Given the description of an element on the screen output the (x, y) to click on. 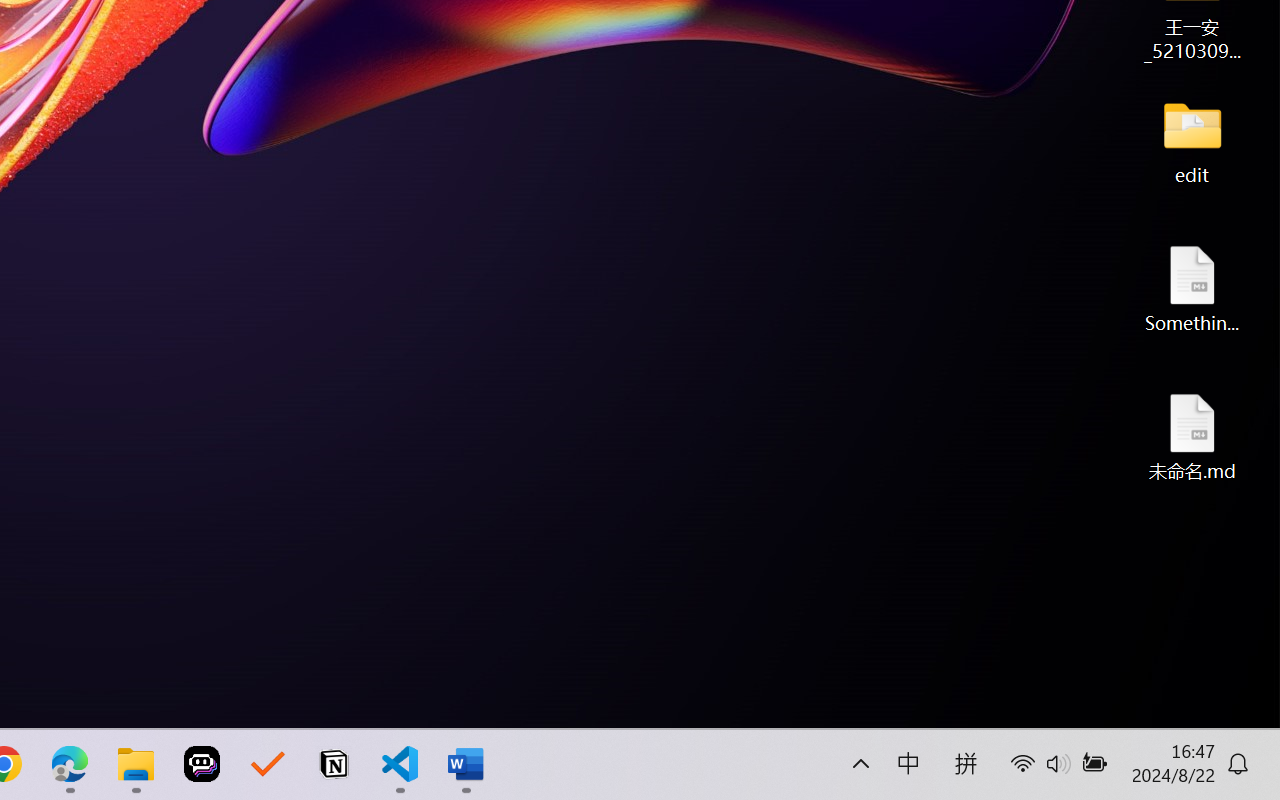
Something.md (1192, 288)
